Given the description of an element on the screen output the (x, y) to click on. 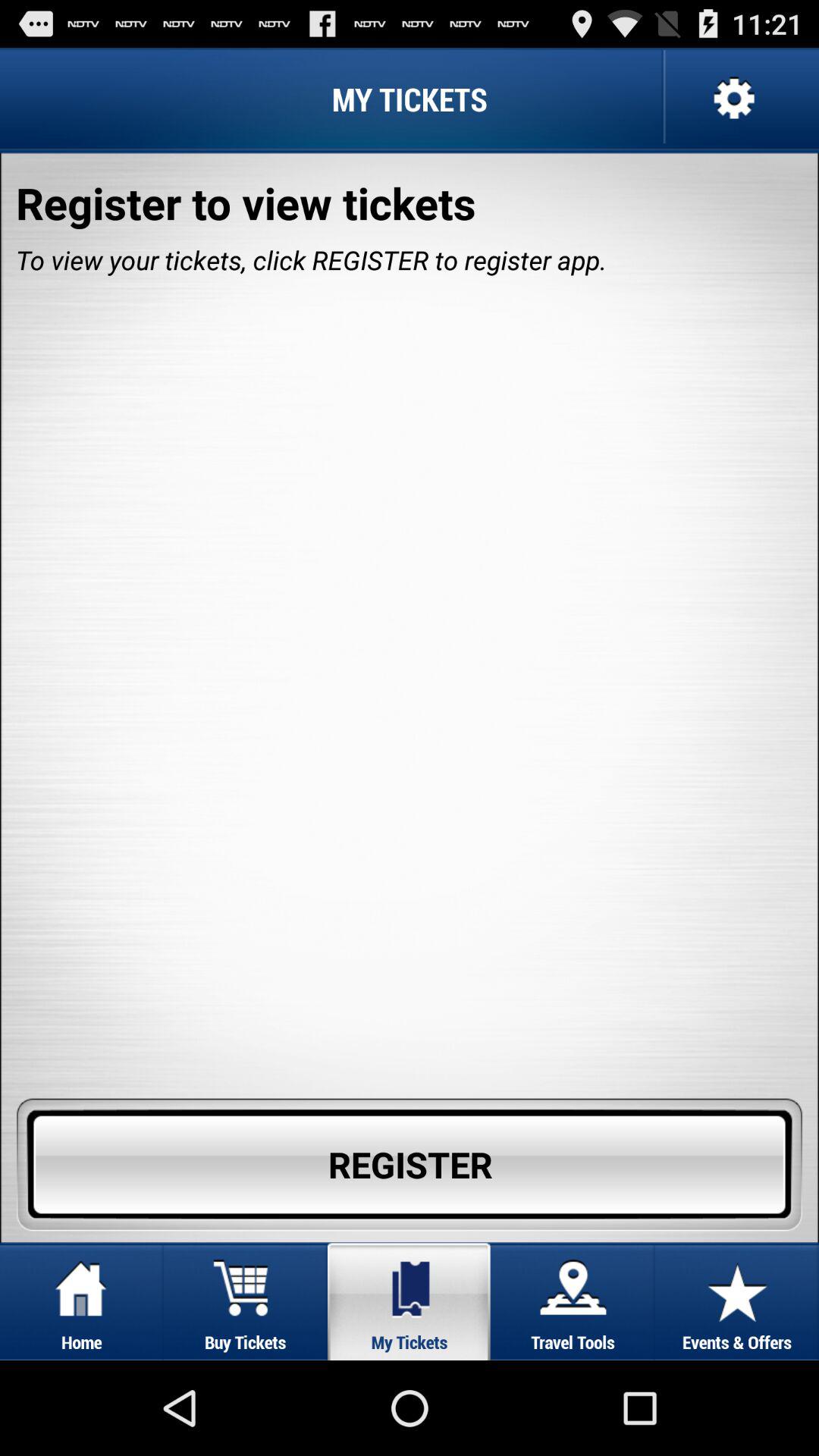
turn off icon next to the my tickets (732, 99)
